Given the description of an element on the screen output the (x, y) to click on. 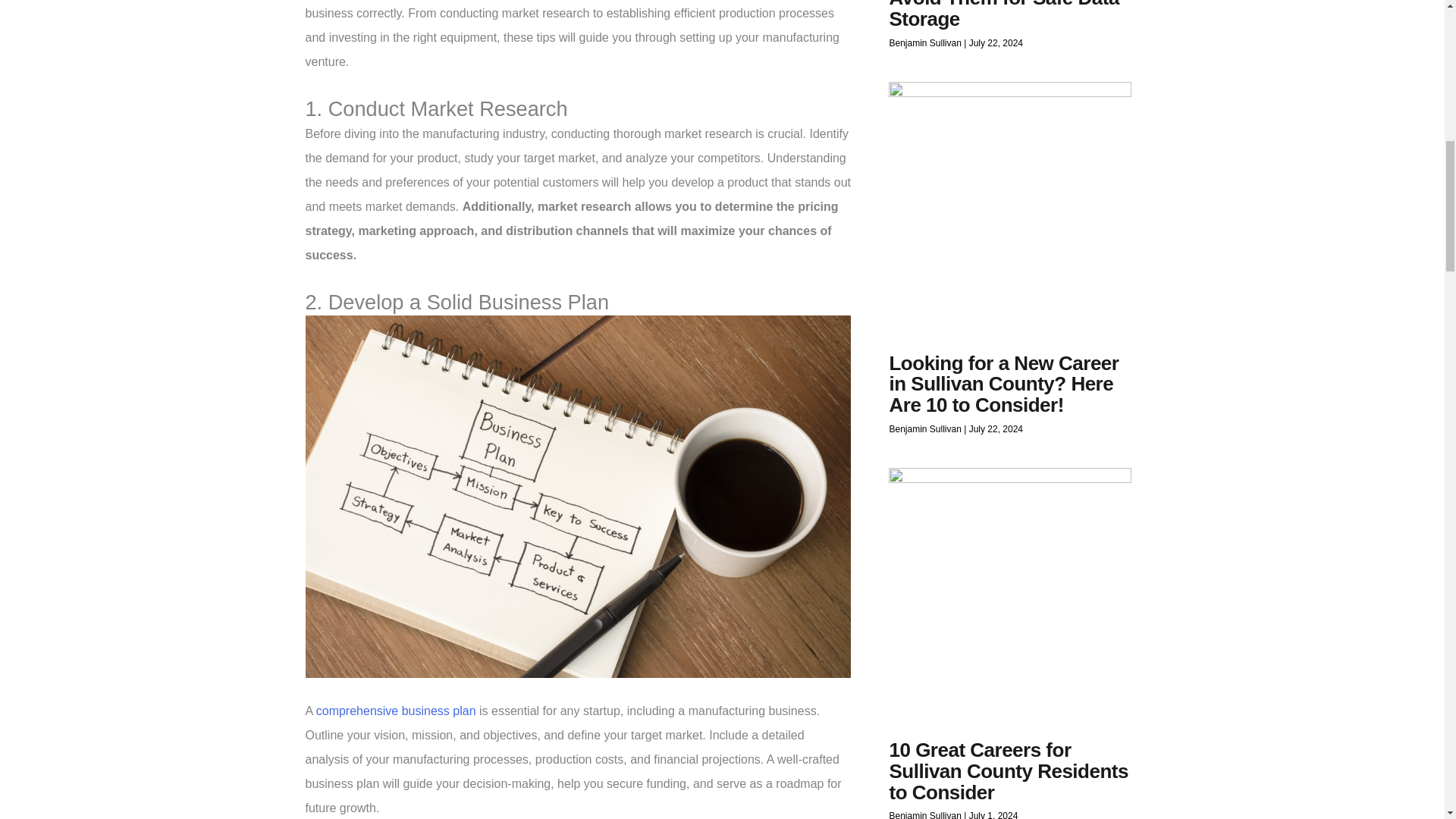
comprehensive business plan (395, 710)
10 Great Careers for Sullivan County Residents to Consider (1007, 770)
